Given the description of an element on the screen output the (x, y) to click on. 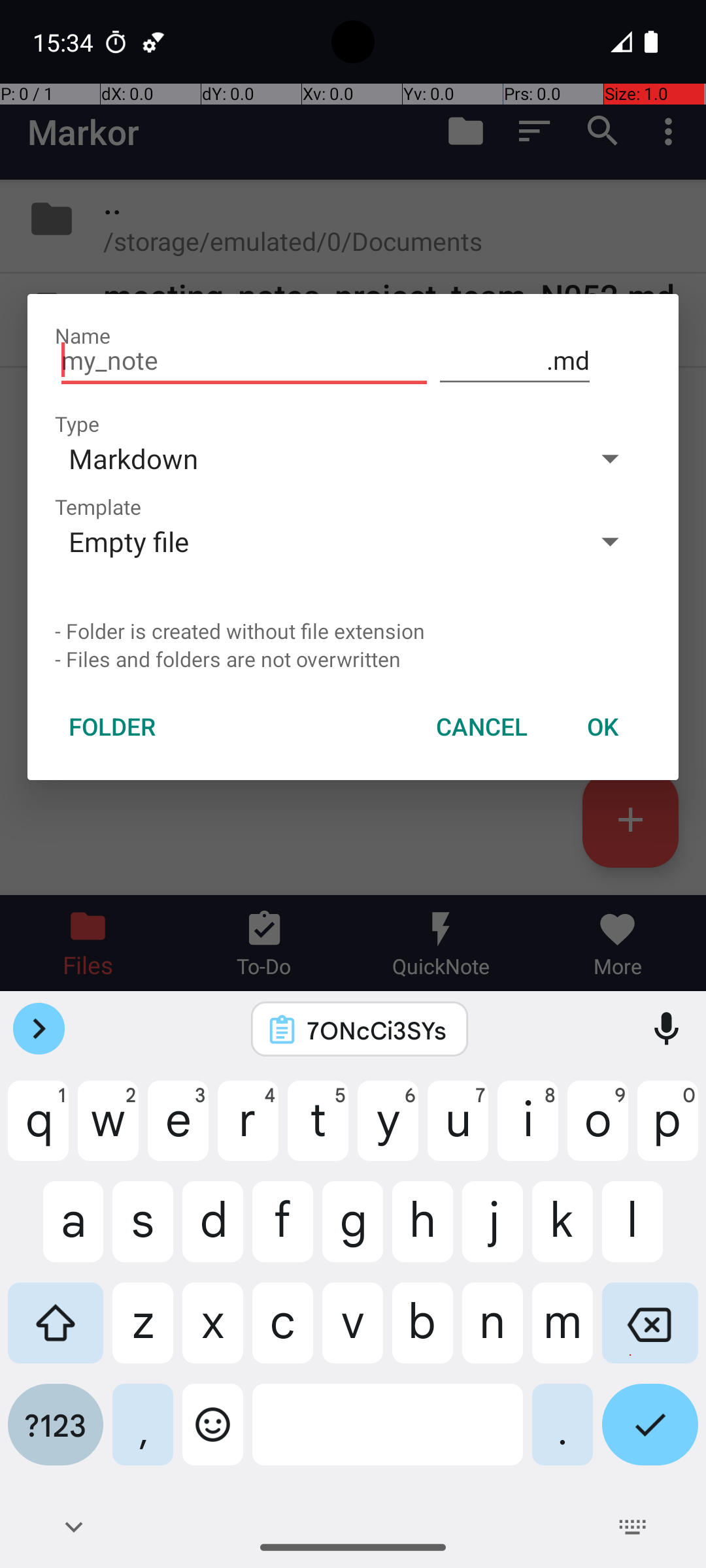
7ONcCi3SYs Element type: android.widget.TextView (376, 1029)
